Given the description of an element on the screen output the (x, y) to click on. 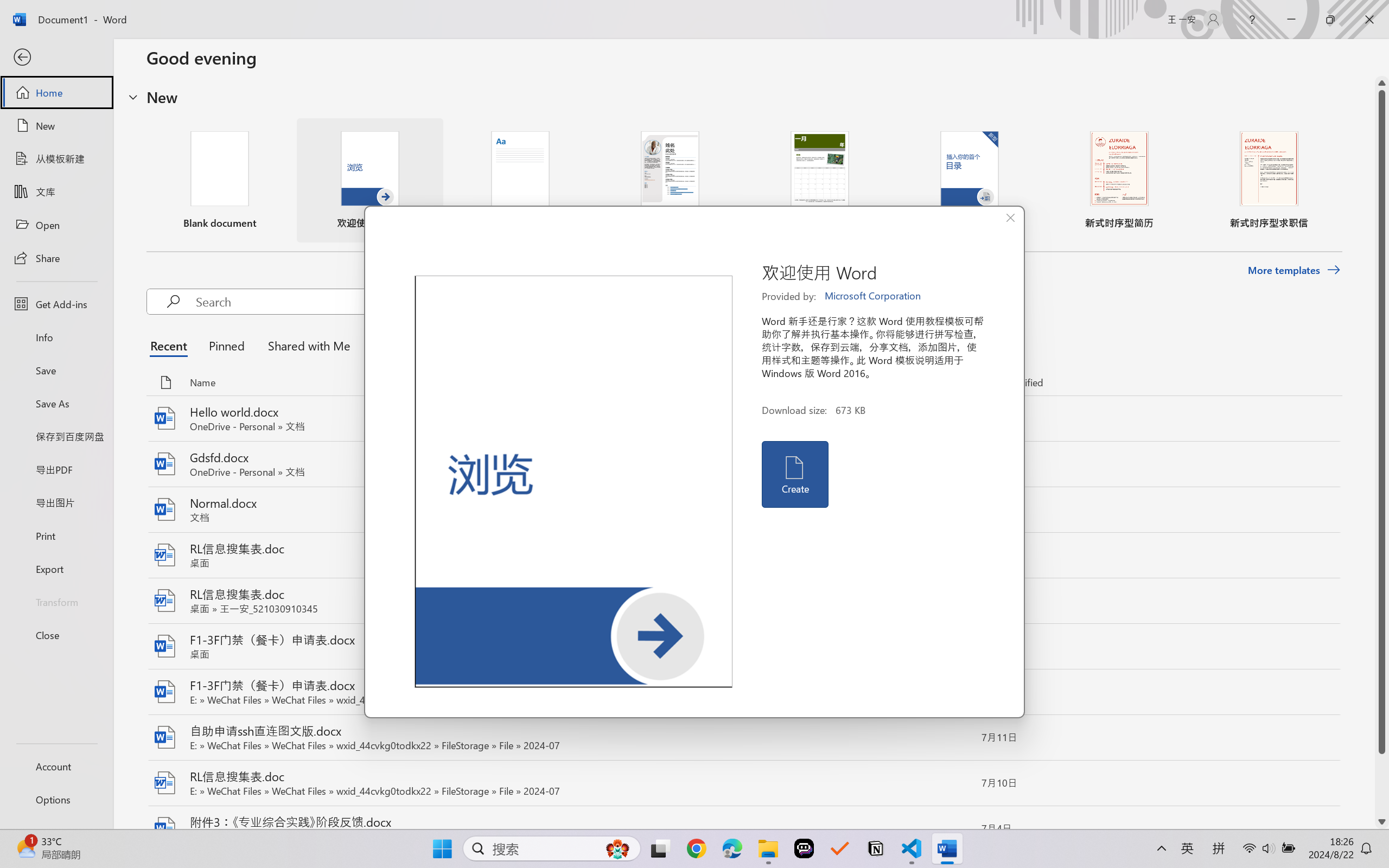
Back (56, 57)
Page down (1382, 784)
Preview (573, 481)
Shared with Me (305, 345)
Unpin this item from the list (954, 418)
Hide or show region (133, 96)
Account (56, 765)
